Given the description of an element on the screen output the (x, y) to click on. 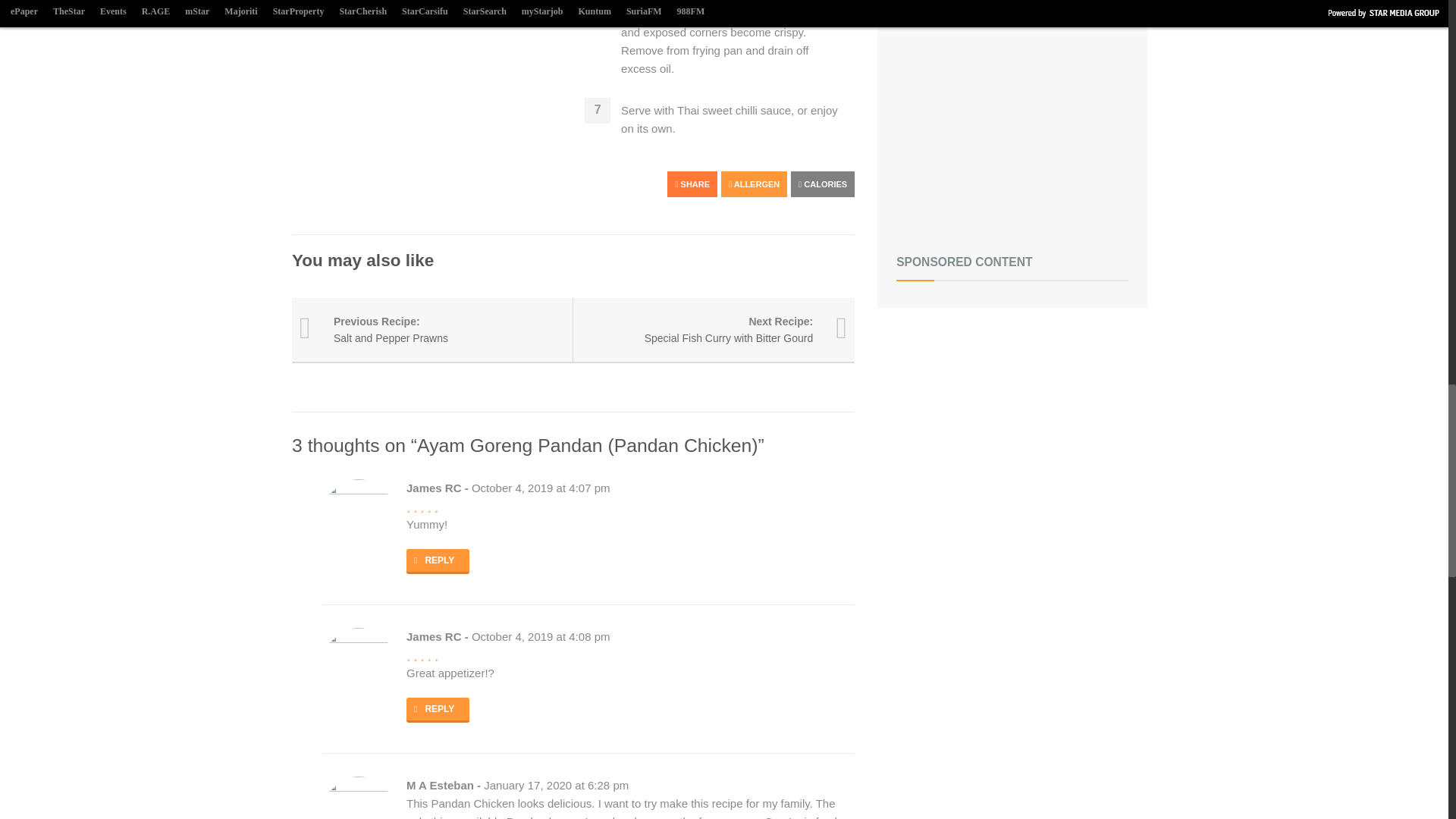
Previous Recipe: Salt and Pepper Prawns (432, 330)
3rd party ad content (1011, 117)
Next Recipe: Special Fish Curry with Bitter Gourd (713, 330)
